Given the description of an element on the screen output the (x, y) to click on. 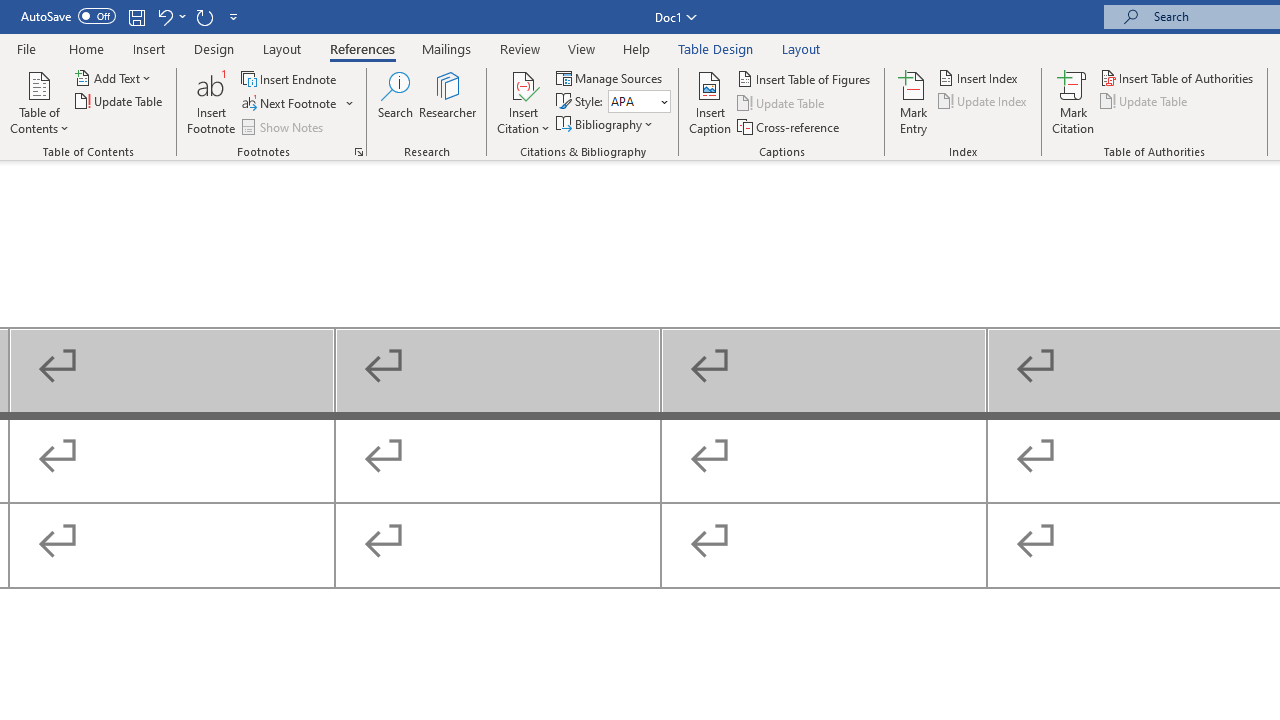
Update Index (984, 101)
Repeat Doc Close (204, 15)
Undo Outline Move Up (164, 15)
